Given the description of an element on the screen output the (x, y) to click on. 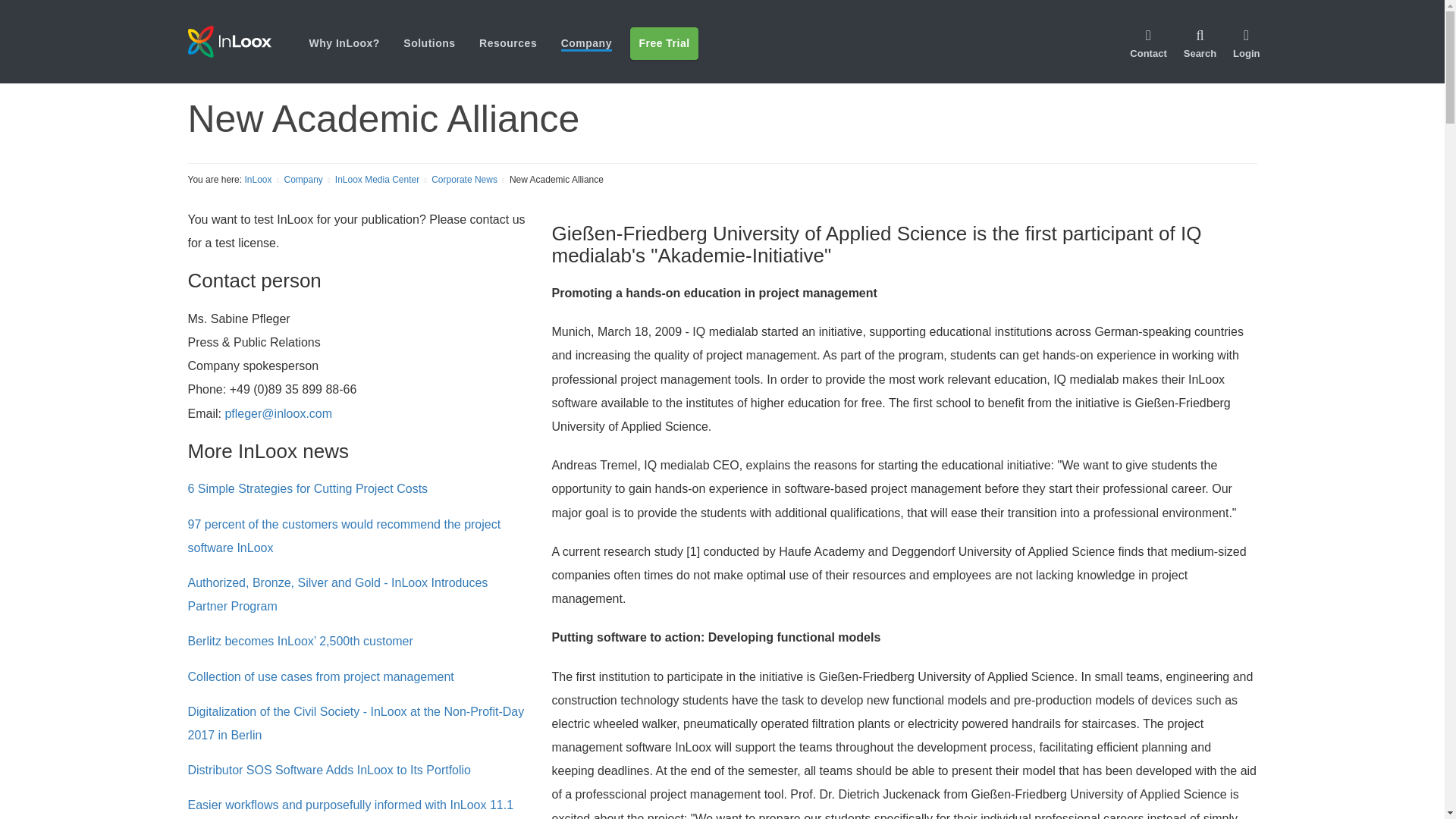
InLoox (247, 41)
InLoox (228, 41)
Why InLoox? (344, 42)
